Given the description of an element on the screen output the (x, y) to click on. 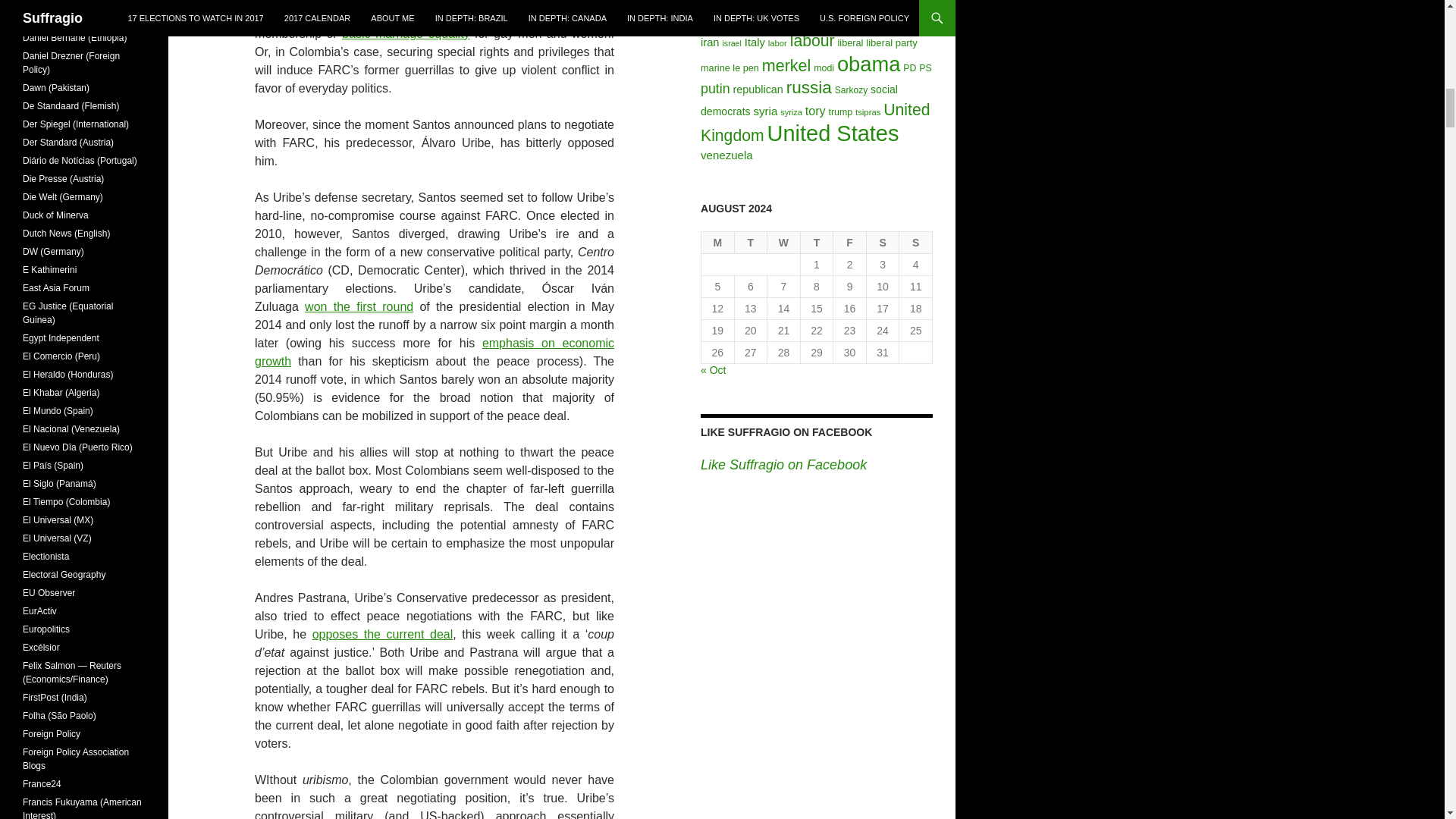
basic marriage equality (405, 33)
emphasis on economic growth (434, 351)
opposes the current deal (382, 634)
won the first round (358, 306)
